Given the description of an element on the screen output the (x, y) to click on. 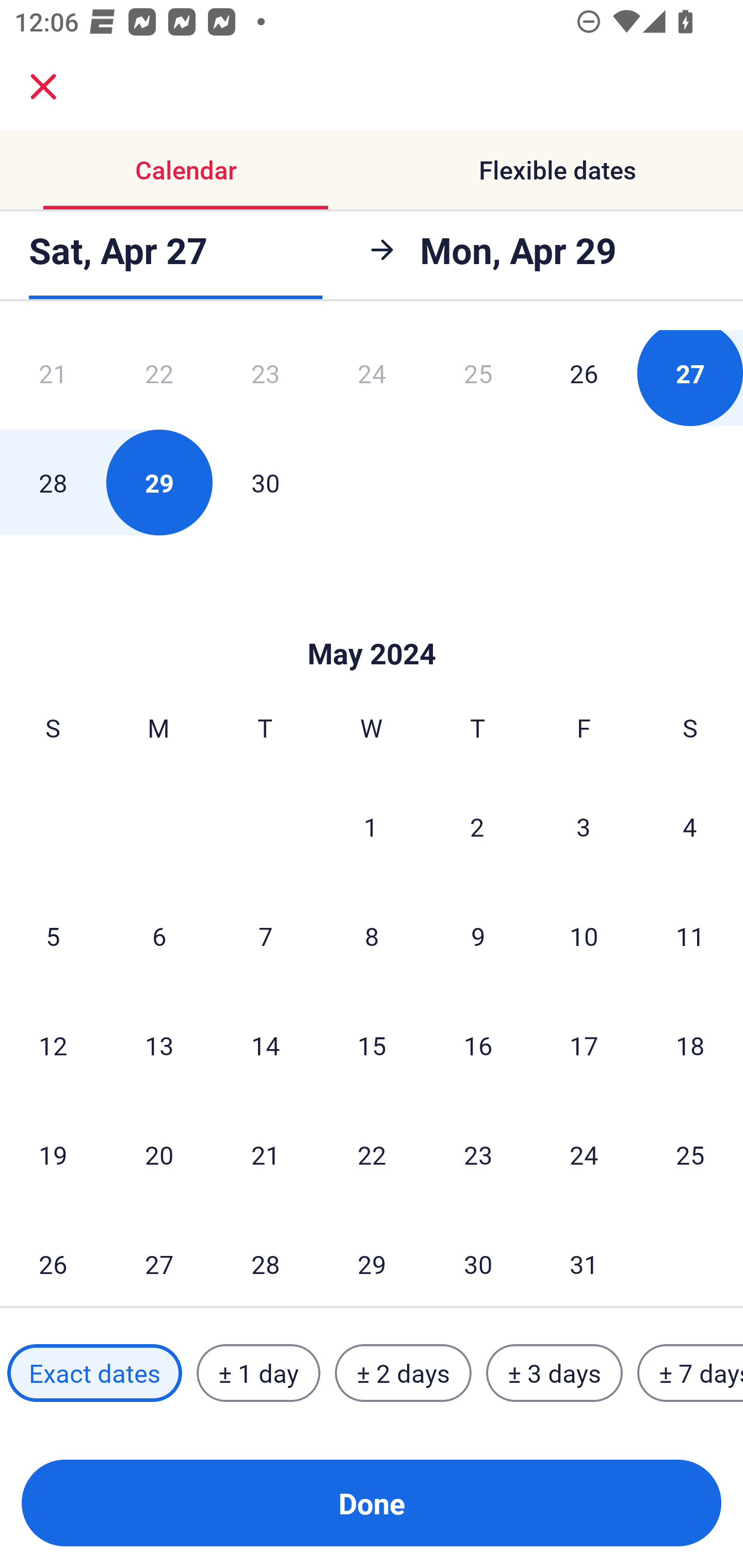
close. (43, 86)
Flexible dates (557, 170)
21 Sunday, April 21, 2024 (53, 378)
22 Monday, April 22, 2024 (159, 378)
23 Tuesday, April 23, 2024 (265, 378)
24 Wednesday, April 24, 2024 (371, 378)
25 Thursday, April 25, 2024 (477, 378)
26 Friday, April 26, 2024 (584, 378)
30 Tuesday, April 30, 2024 (265, 481)
Skip to Done (371, 623)
1 Wednesday, May 1, 2024 (371, 826)
2 Thursday, May 2, 2024 (477, 826)
3 Friday, May 3, 2024 (583, 826)
4 Saturday, May 4, 2024 (689, 826)
5 Sunday, May 5, 2024 (53, 935)
6 Monday, May 6, 2024 (159, 935)
7 Tuesday, May 7, 2024 (265, 935)
8 Wednesday, May 8, 2024 (371, 935)
9 Thursday, May 9, 2024 (477, 935)
10 Friday, May 10, 2024 (584, 935)
11 Saturday, May 11, 2024 (690, 935)
12 Sunday, May 12, 2024 (53, 1044)
13 Monday, May 13, 2024 (159, 1044)
14 Tuesday, May 14, 2024 (265, 1044)
15 Wednesday, May 15, 2024 (371, 1044)
16 Thursday, May 16, 2024 (477, 1044)
17 Friday, May 17, 2024 (584, 1044)
18 Saturday, May 18, 2024 (690, 1044)
19 Sunday, May 19, 2024 (53, 1154)
20 Monday, May 20, 2024 (159, 1154)
21 Tuesday, May 21, 2024 (265, 1154)
22 Wednesday, May 22, 2024 (371, 1154)
23 Thursday, May 23, 2024 (477, 1154)
24 Friday, May 24, 2024 (584, 1154)
25 Saturday, May 25, 2024 (690, 1154)
26 Sunday, May 26, 2024 (53, 1258)
27 Monday, May 27, 2024 (159, 1258)
28 Tuesday, May 28, 2024 (265, 1258)
29 Wednesday, May 29, 2024 (371, 1258)
30 Thursday, May 30, 2024 (477, 1258)
31 Friday, May 31, 2024 (584, 1258)
Exact dates (94, 1372)
± 1 day (258, 1372)
± 2 days (403, 1372)
± 3 days (553, 1372)
± 7 days (690, 1372)
Done (371, 1502)
